Given the description of an element on the screen output the (x, y) to click on. 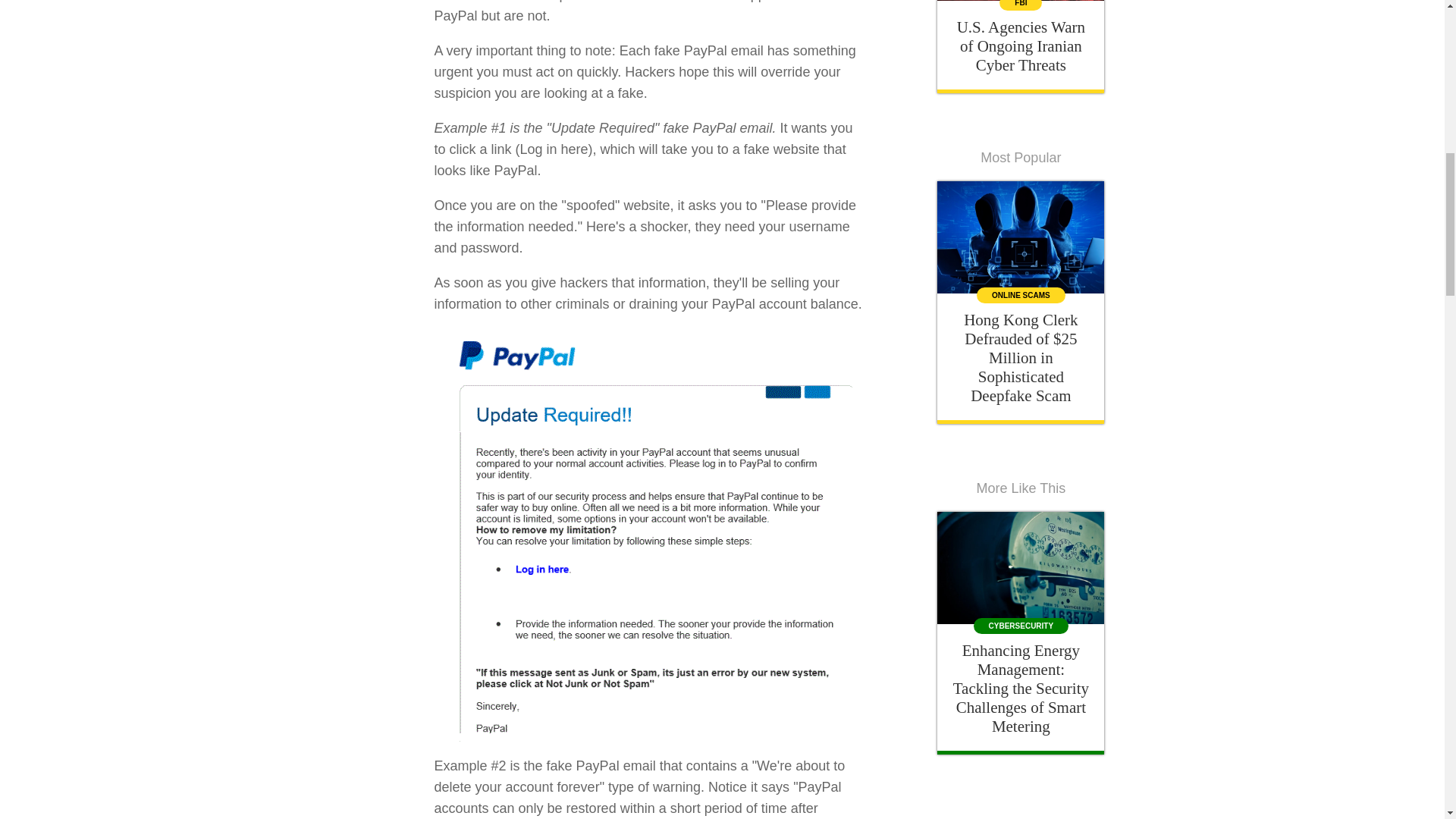
U.S. Agencies Warn of Ongoing Iranian Cyber Threats (1020, 46)
ONLINE SCAMS (1020, 295)
3rd party ad content (1020, 815)
CYBERSECURITY (1021, 625)
FBI (1020, 5)
